Given the description of an element on the screen output the (x, y) to click on. 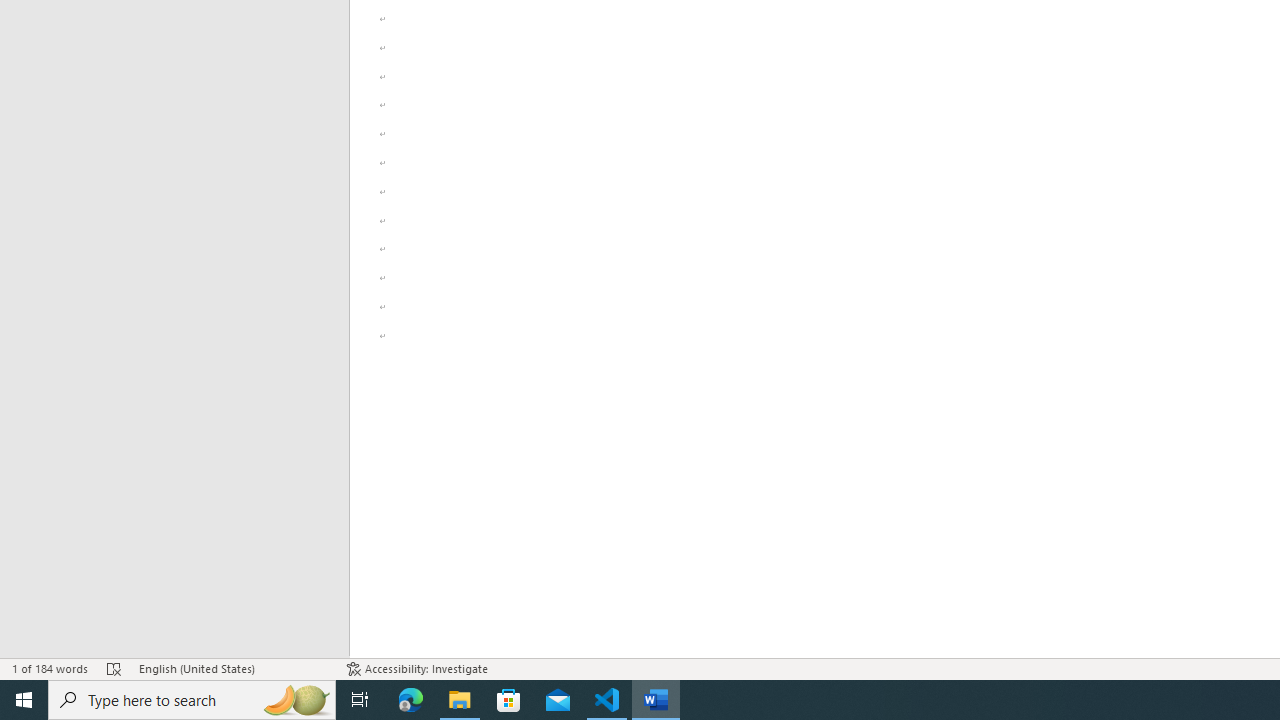
Accessibility Checker Accessibility: Investigate (417, 668)
Spelling and Grammar Check Errors (114, 668)
Language English (United States) (232, 668)
